Given the description of an element on the screen output the (x, y) to click on. 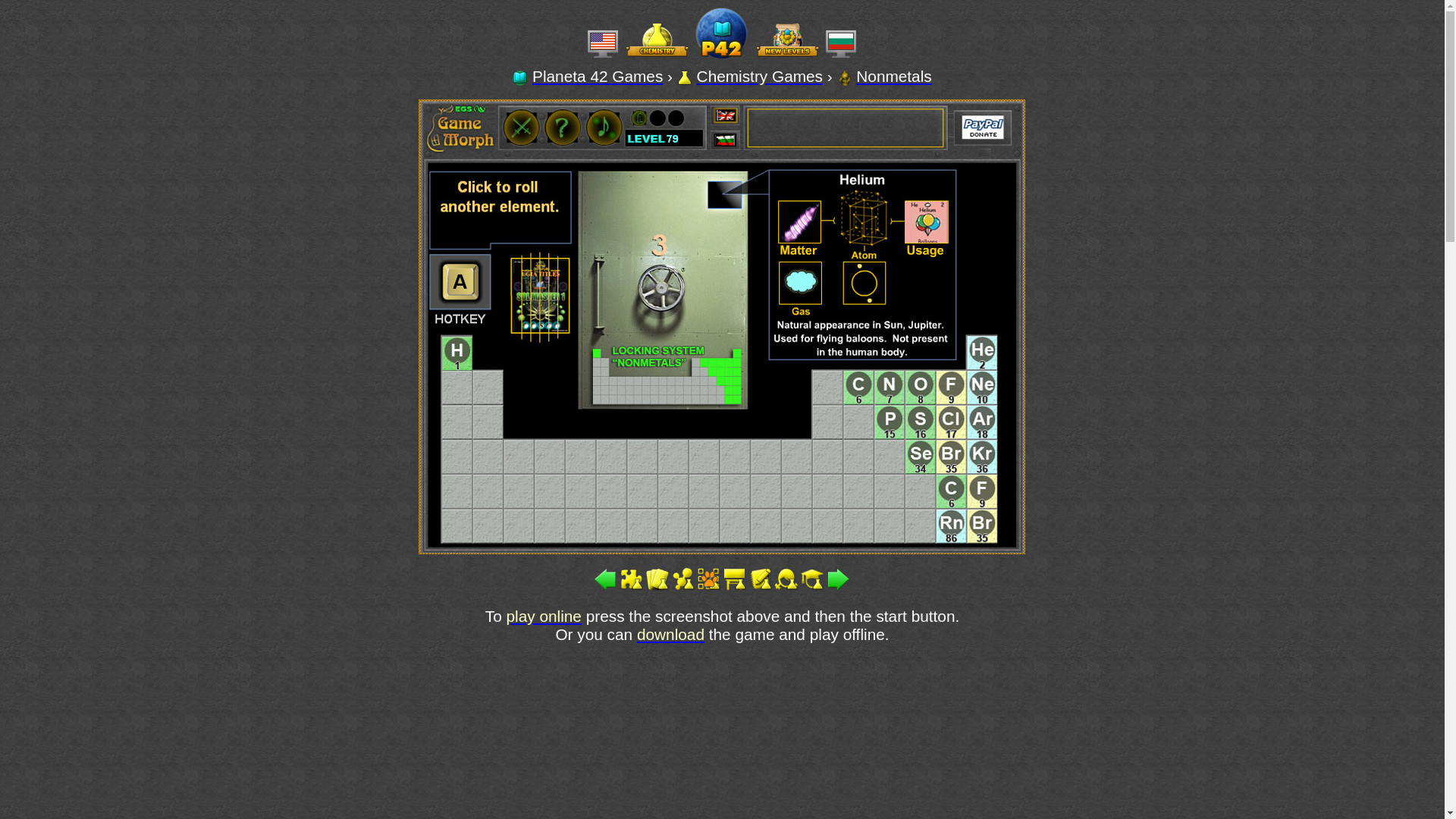
The Planet of Knowledge (722, 60)
play online (543, 615)
Online Leanirng Games (597, 76)
Knowledge Level Game (893, 76)
P42 Games in Bulgarian (841, 46)
download (670, 633)
Chemistry Learning Games (759, 76)
P42 Games in English (603, 46)
Free Online Game (844, 77)
P42 Knowledge Levels (787, 39)
